Given the description of an element on the screen output the (x, y) to click on. 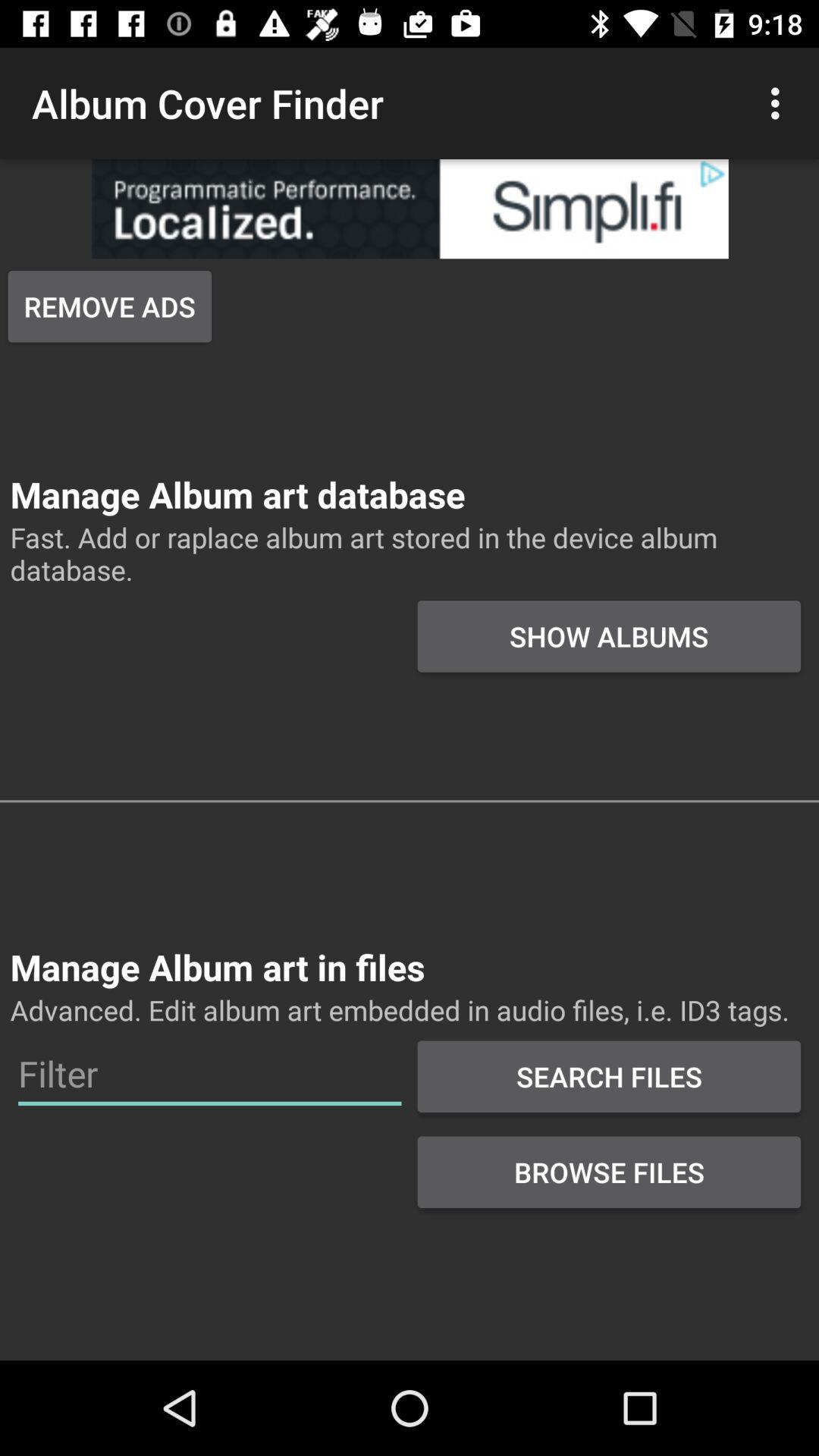
advertisement page (409, 208)
